Given the description of an element on the screen output the (x, y) to click on. 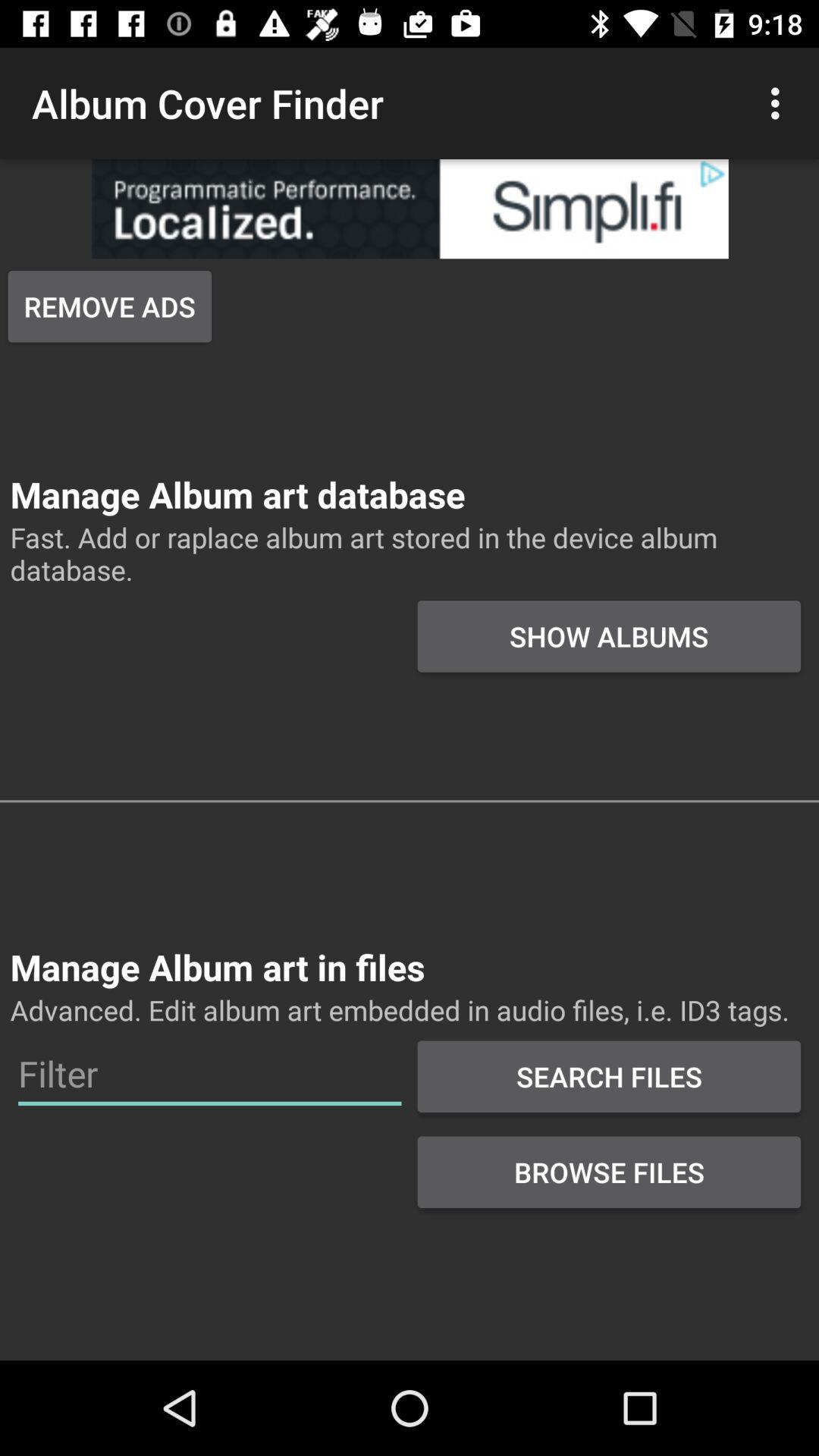
advertisement page (409, 208)
